Given the description of an element on the screen output the (x, y) to click on. 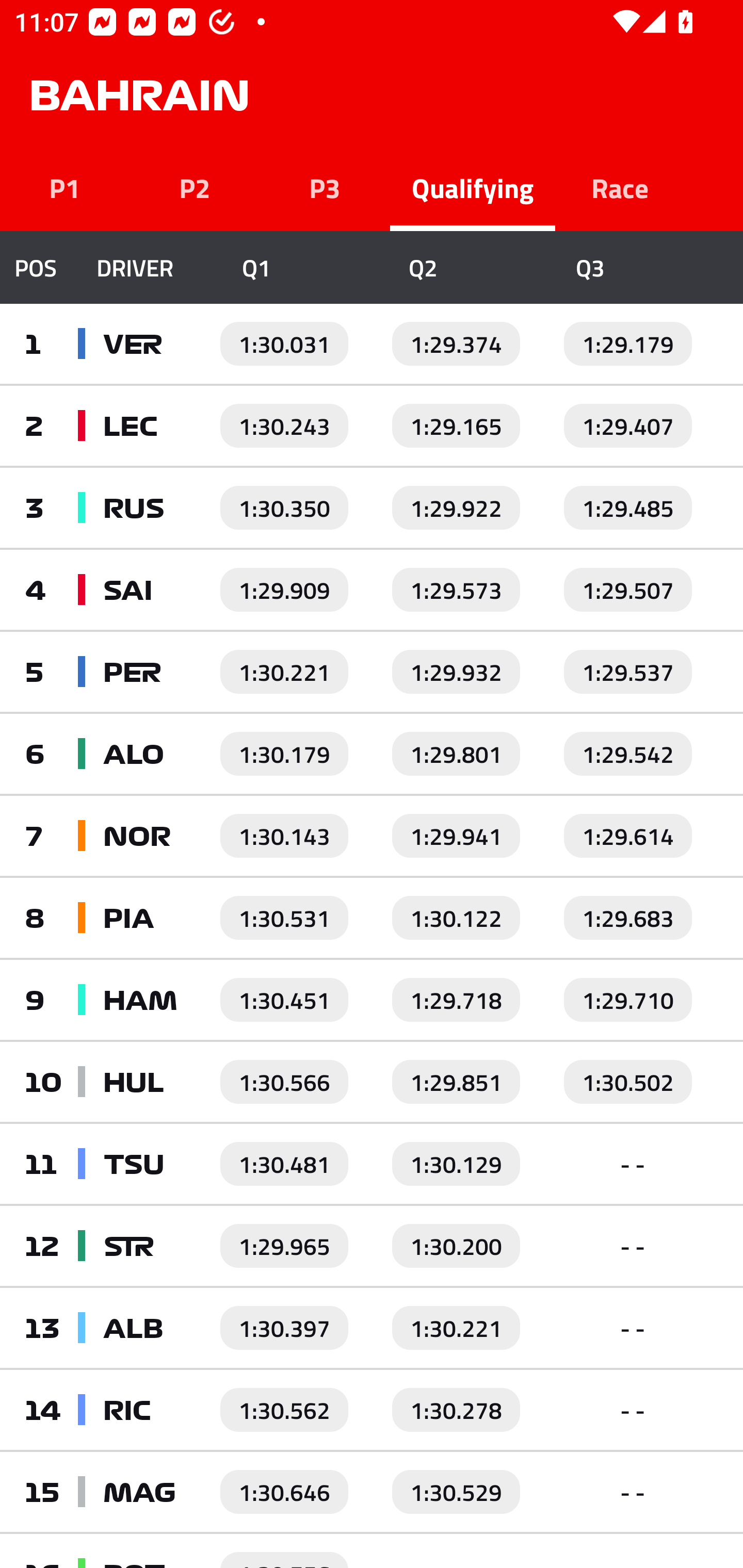
P1 (65, 187)
P2 (195, 187)
P3 (325, 187)
Race (620, 187)
